Given the description of an element on the screen output the (x, y) to click on. 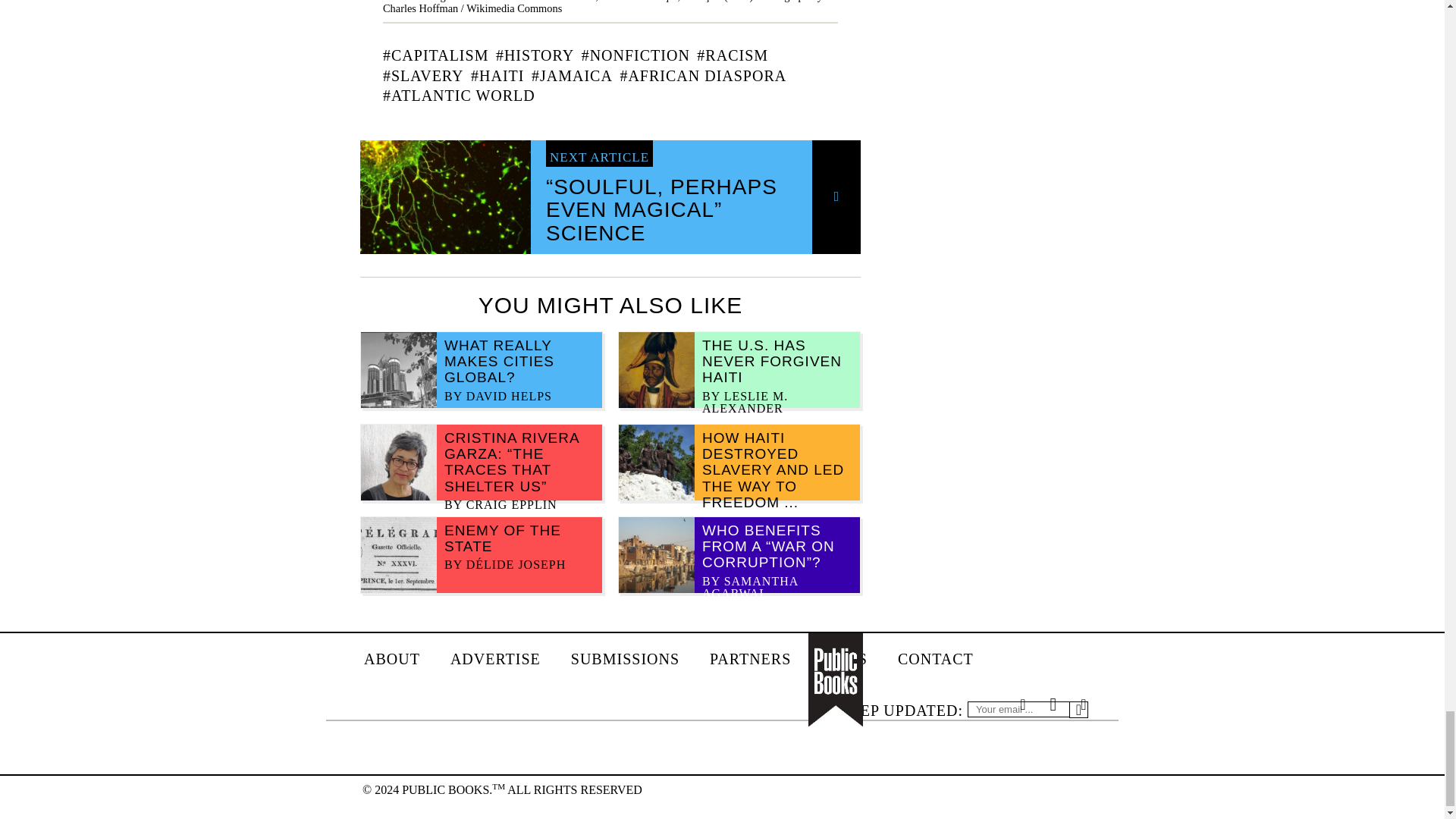
The U.S. Has Never Forgiven Haiti (771, 361)
Enemy of the State (502, 538)
What Really Makes Cities Global? (499, 361)
